Given the description of an element on the screen output the (x, y) to click on. 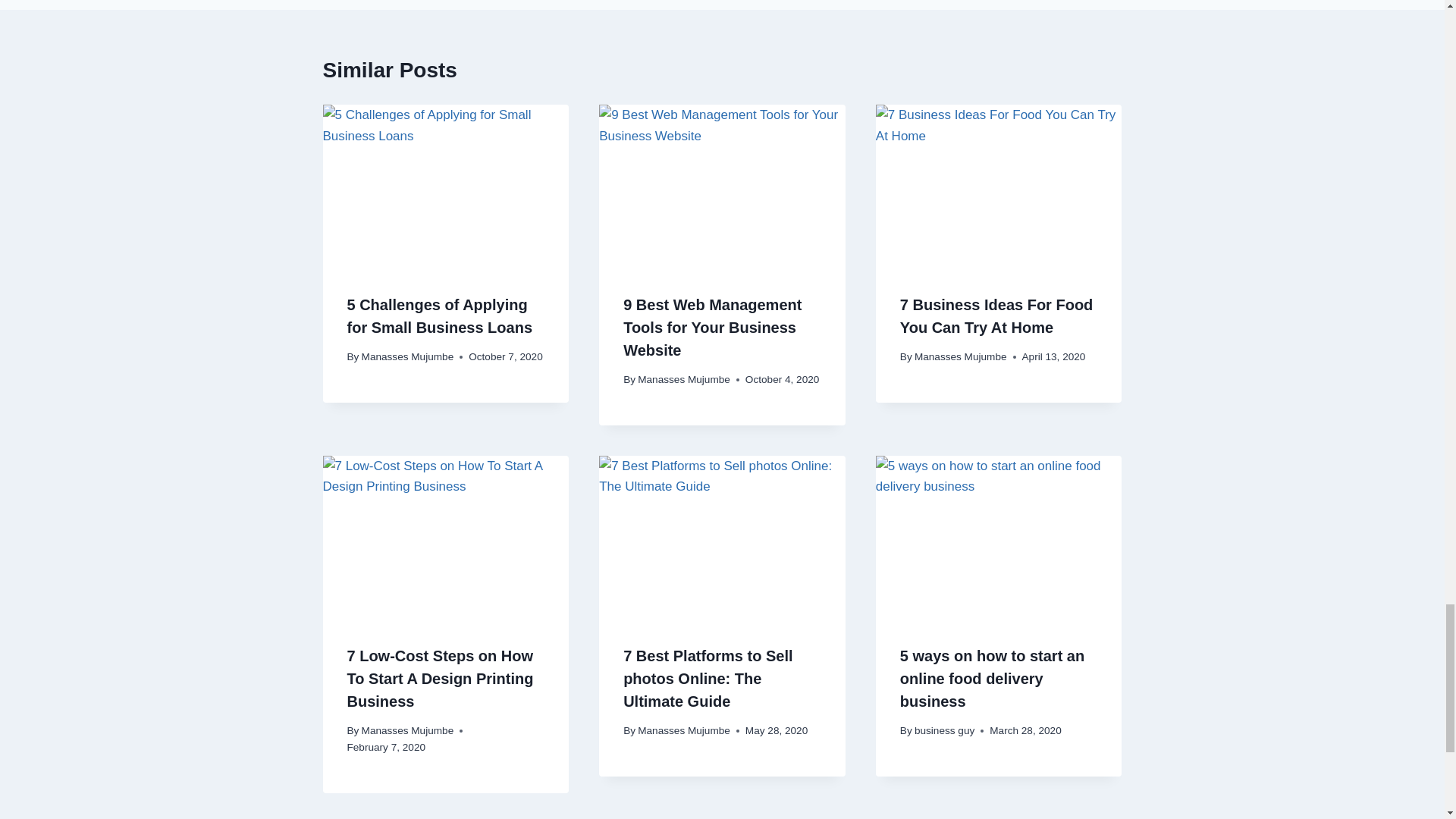
Manasses Mujumbe (407, 356)
9 Best Web Management Tools for Your Business Website (712, 327)
Manasses Mujumbe (683, 378)
5 Challenges of Applying for Small Business Loans (439, 315)
